Given the description of an element on the screen output the (x, y) to click on. 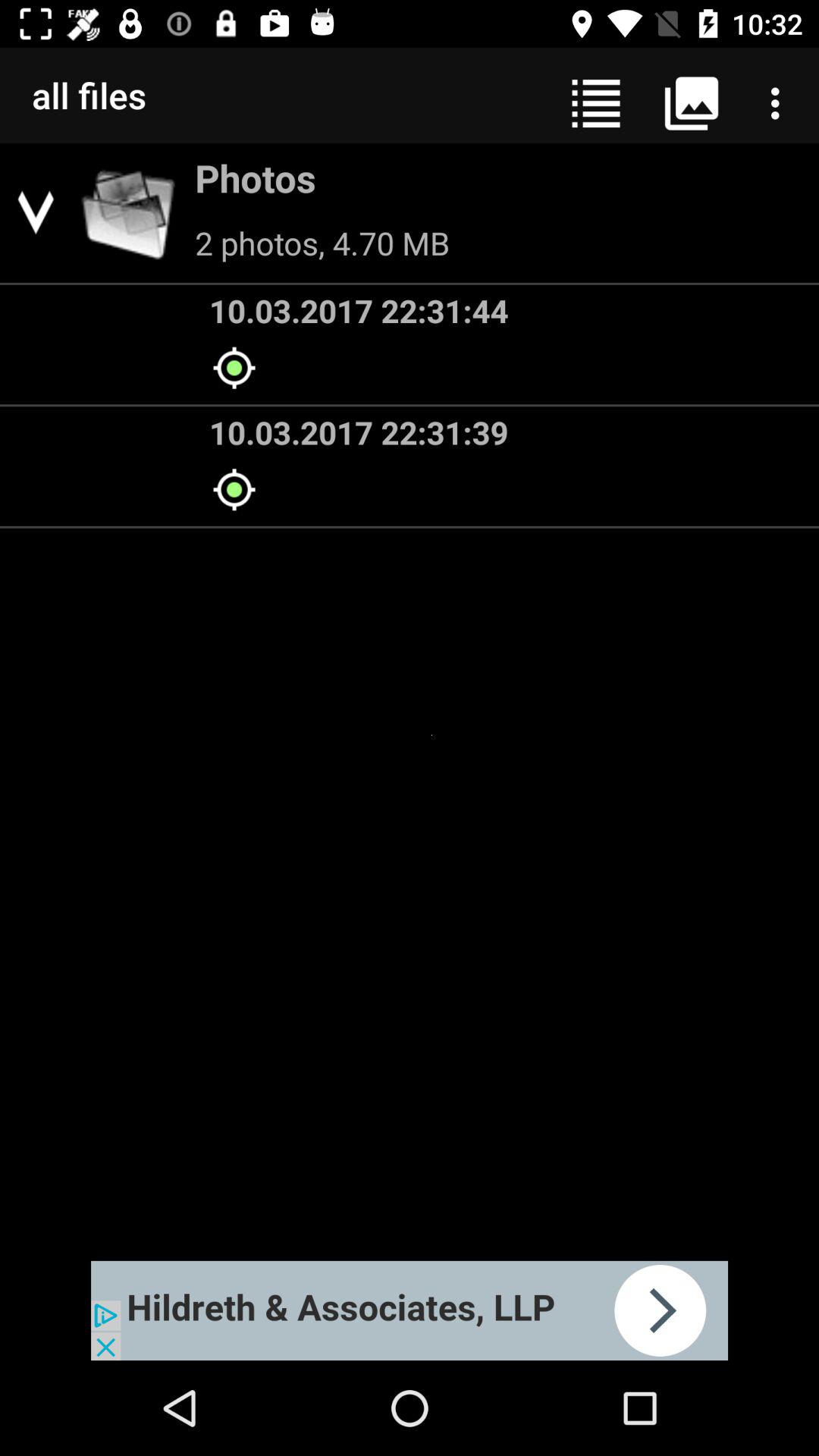
select option (409, 1310)
